Given the description of an element on the screen output the (x, y) to click on. 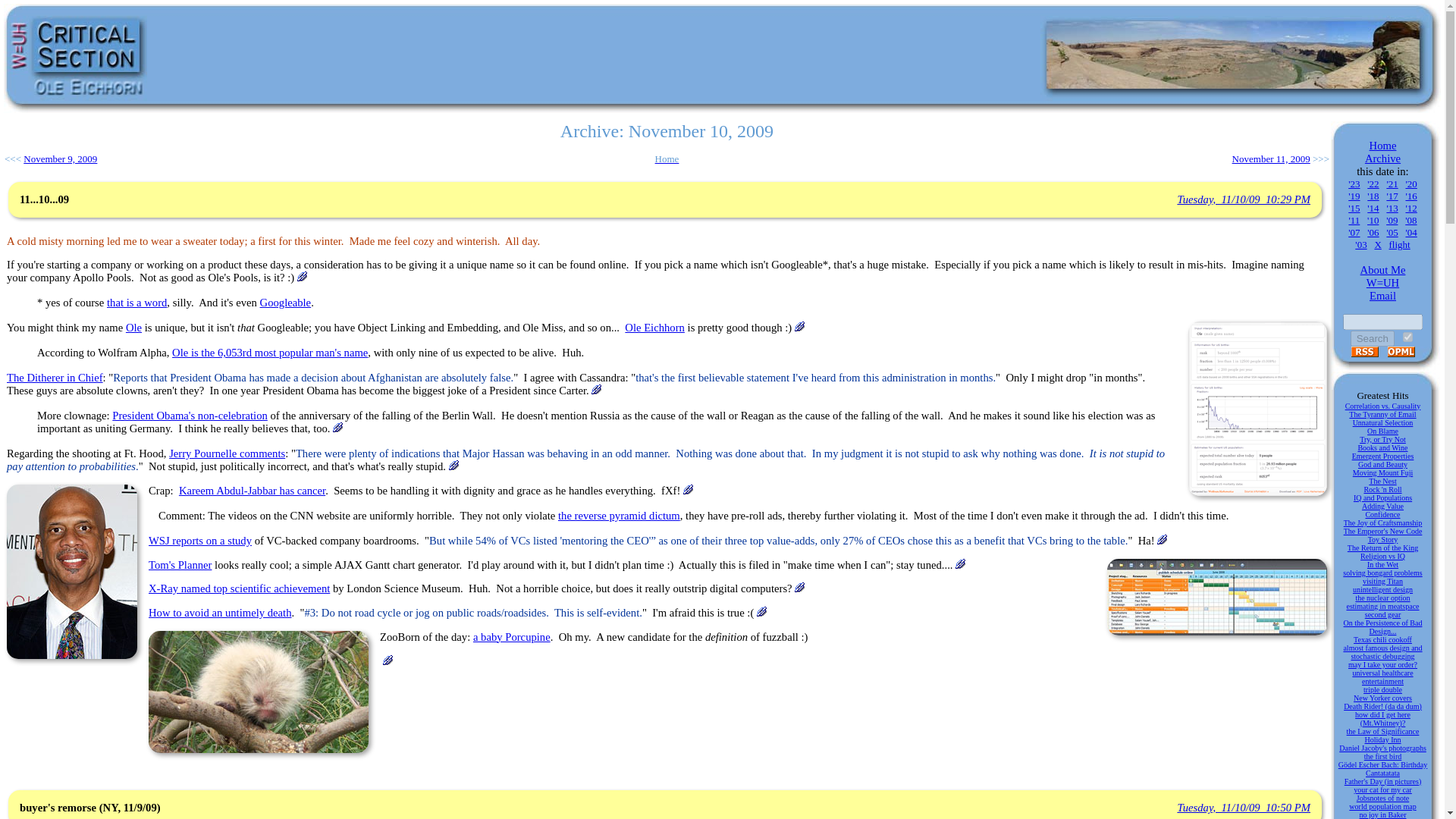
Permalink (1162, 539)
Permalink (1243, 807)
Permalink (337, 427)
Permalink (960, 563)
November 11, 2009 (1270, 158)
How to avoid an untimely death (219, 612)
Wolfram Alpha on "Ole" (1257, 408)
Ole Eichhorn (654, 327)
Permalink (799, 587)
Permalink (596, 388)
Kareem Abdul-Jabbar (71, 571)
ZooBorn: baby Porcupine fuzzball (258, 691)
Ole (133, 327)
that is a word (136, 302)
Jerry Pournelle comments (226, 453)
